Given the description of an element on the screen output the (x, y) to click on. 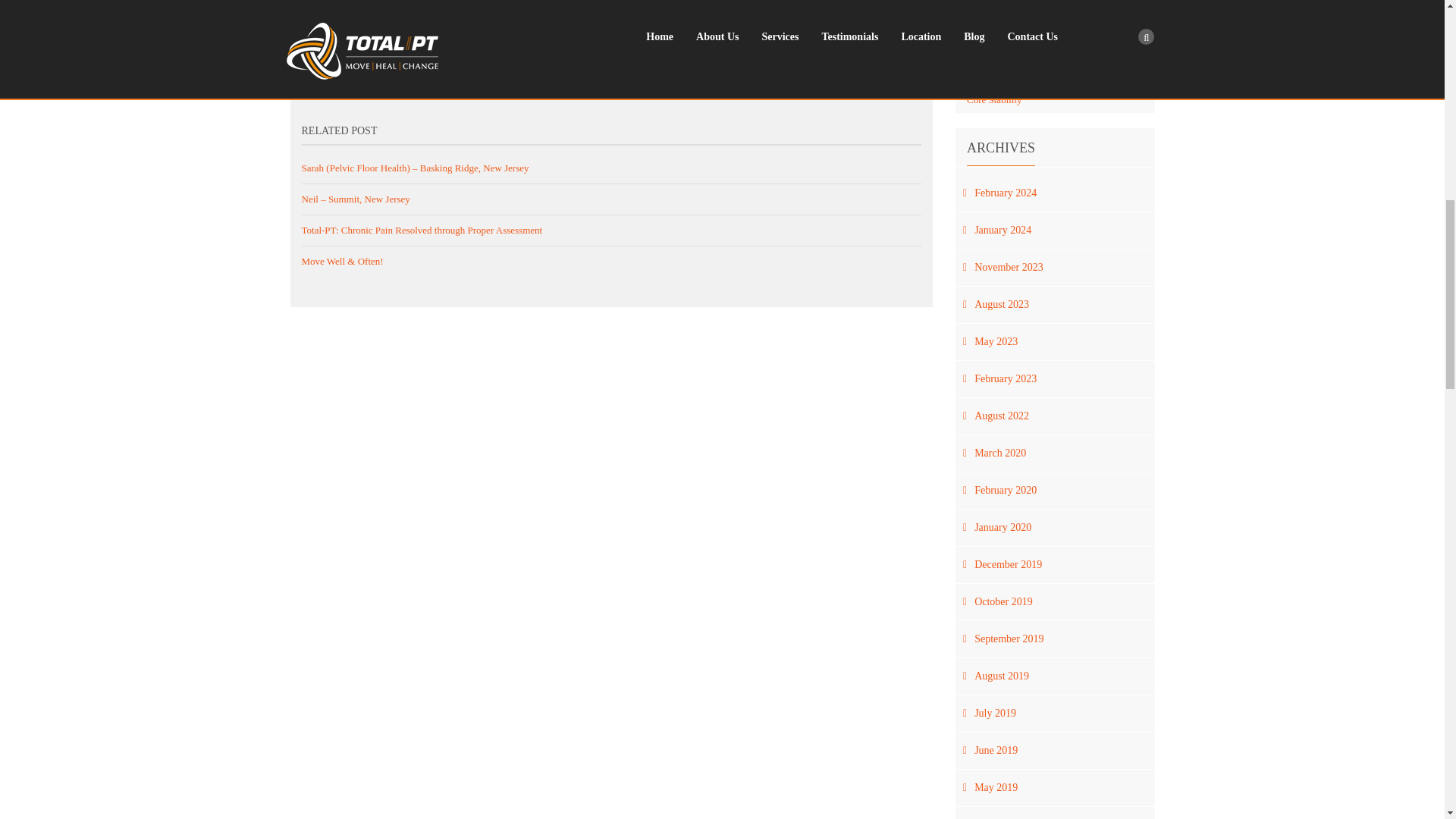
Share on Twitter (846, 57)
Share on Linkedin (866, 57)
Google Plus (885, 57)
Share on Tumblr (904, 57)
Pinterest (923, 57)
Share on Facebook (827, 57)
